Given the description of an element on the screen output the (x, y) to click on. 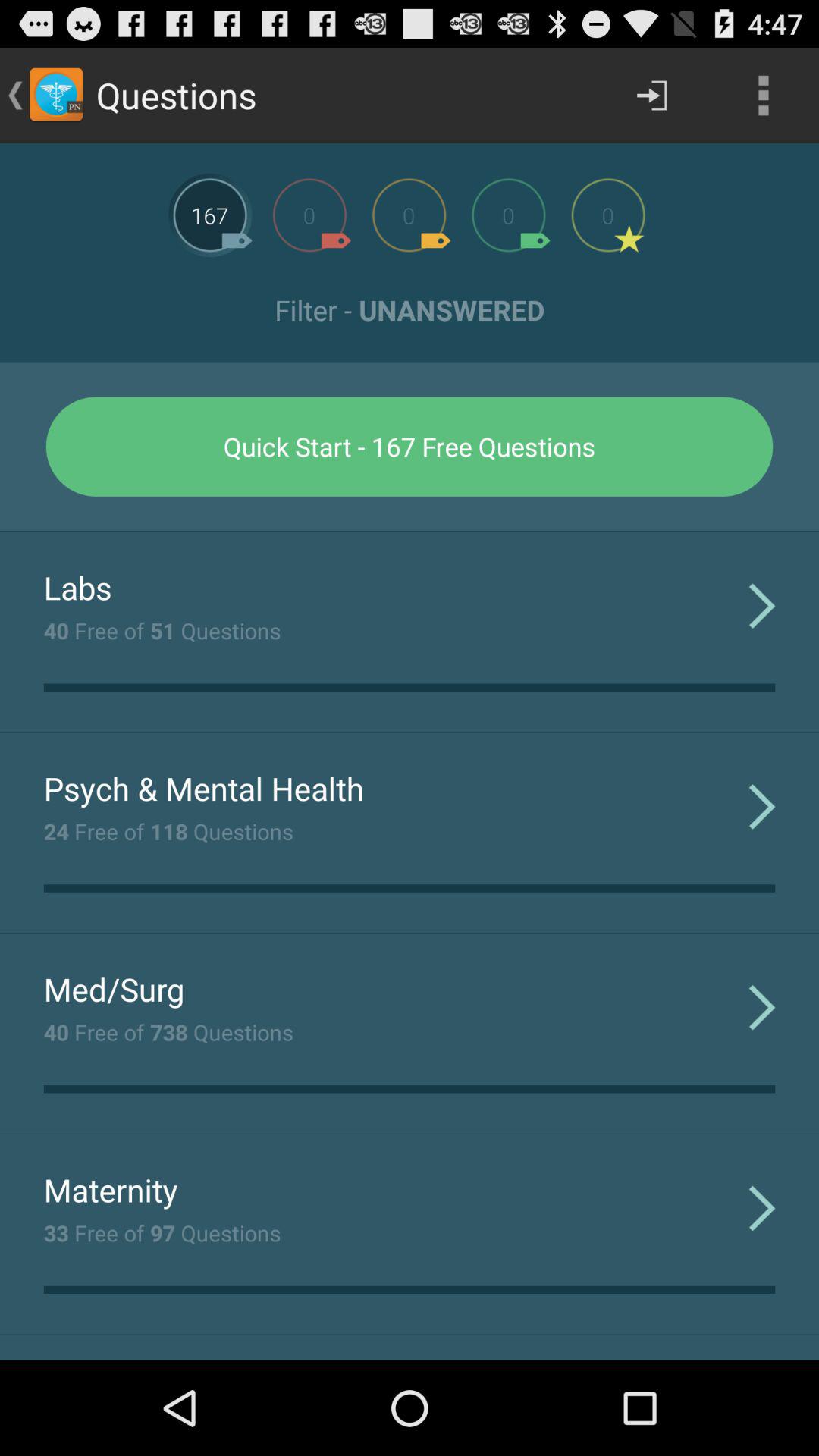
swipe until med/surg item (113, 988)
